Given the description of an element on the screen output the (x, y) to click on. 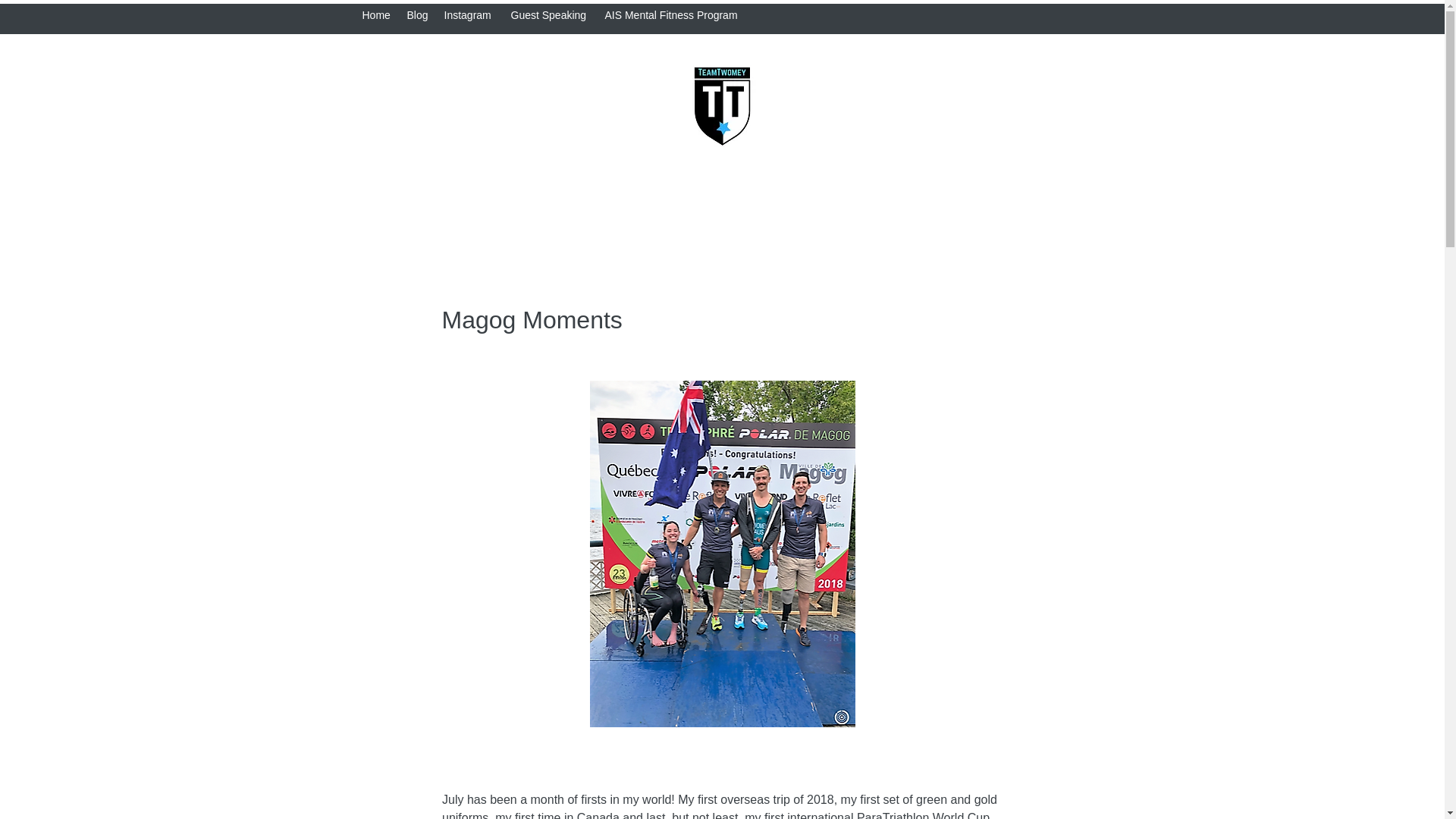
Blog (416, 15)
AIS Mental Fitness Program (674, 15)
Home (376, 15)
Instagram (469, 15)
Guest Speaking (549, 15)
